Given the description of an element on the screen output the (x, y) to click on. 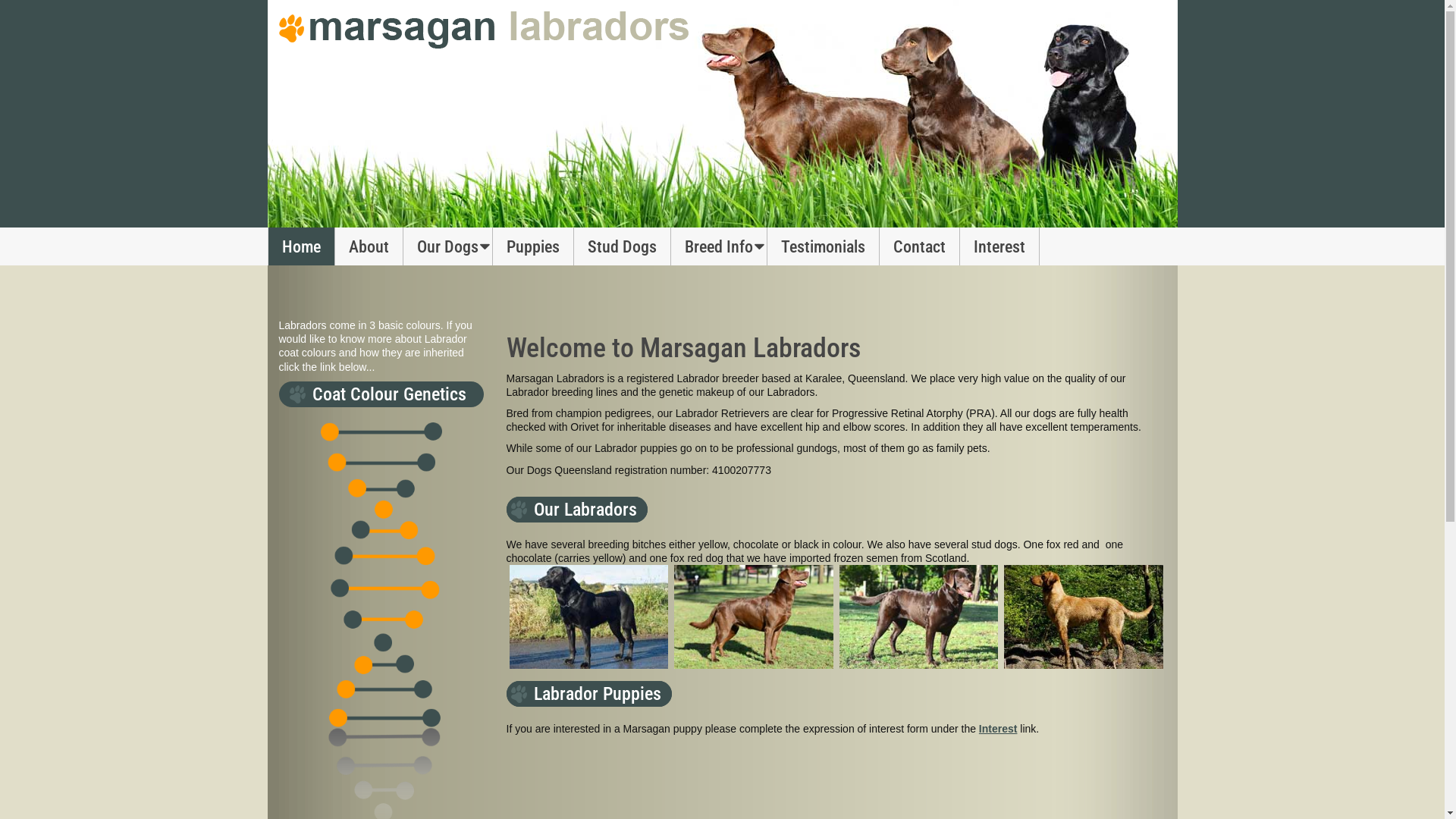
Our Labradors Element type: text (576, 509)
Testimonials Element type: text (823, 246)
Marsagan Labradors - Sam Element type: hover (588, 615)
Coat Colour Genetics Element type: text (380, 394)
Marsagan Labradors - Donna Element type: hover (918, 615)
Our Dogs Element type: text (447, 246)
Interest Element type: text (998, 728)
Puppies Element type: text (533, 246)
Home Element type: text (301, 246)
Breed Info Element type: text (718, 246)
Stud Dogs Element type: text (621, 246)
Marsagan Labragors Element type: hover (483, 28)
Labrador Puppies Element type: text (588, 693)
Marsagan Labradors - Xena Element type: hover (753, 615)
Contact Element type: text (919, 246)
About Element type: text (369, 246)
Interest Element type: text (999, 246)
Marsagan Labradors - Mirren Element type: hover (1083, 615)
